Given the description of an element on the screen output the (x, y) to click on. 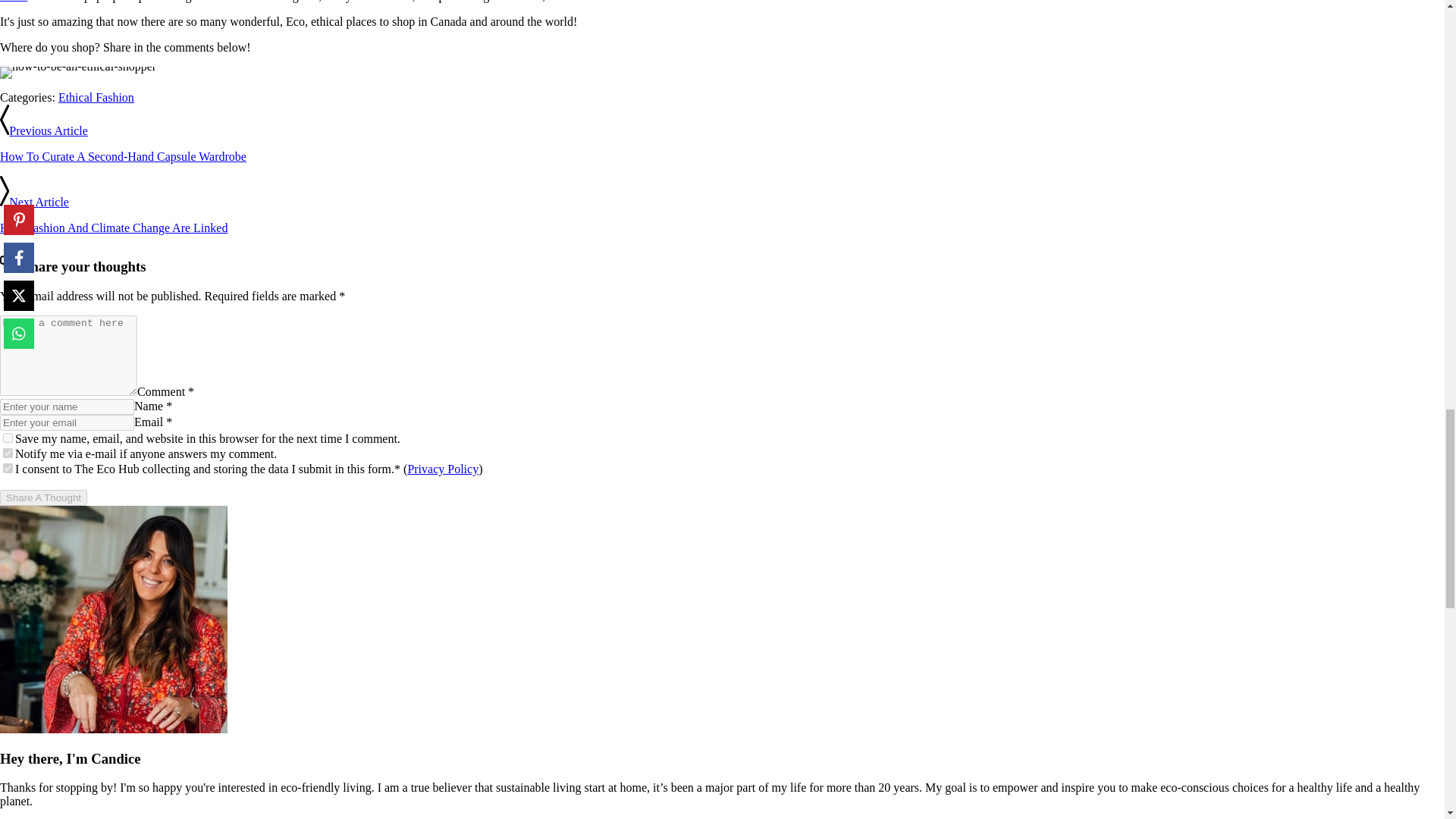
yes (7, 438)
Check Privacy Policy (443, 468)
on (7, 452)
yes (7, 468)
